Given the description of an element on the screen output the (x, y) to click on. 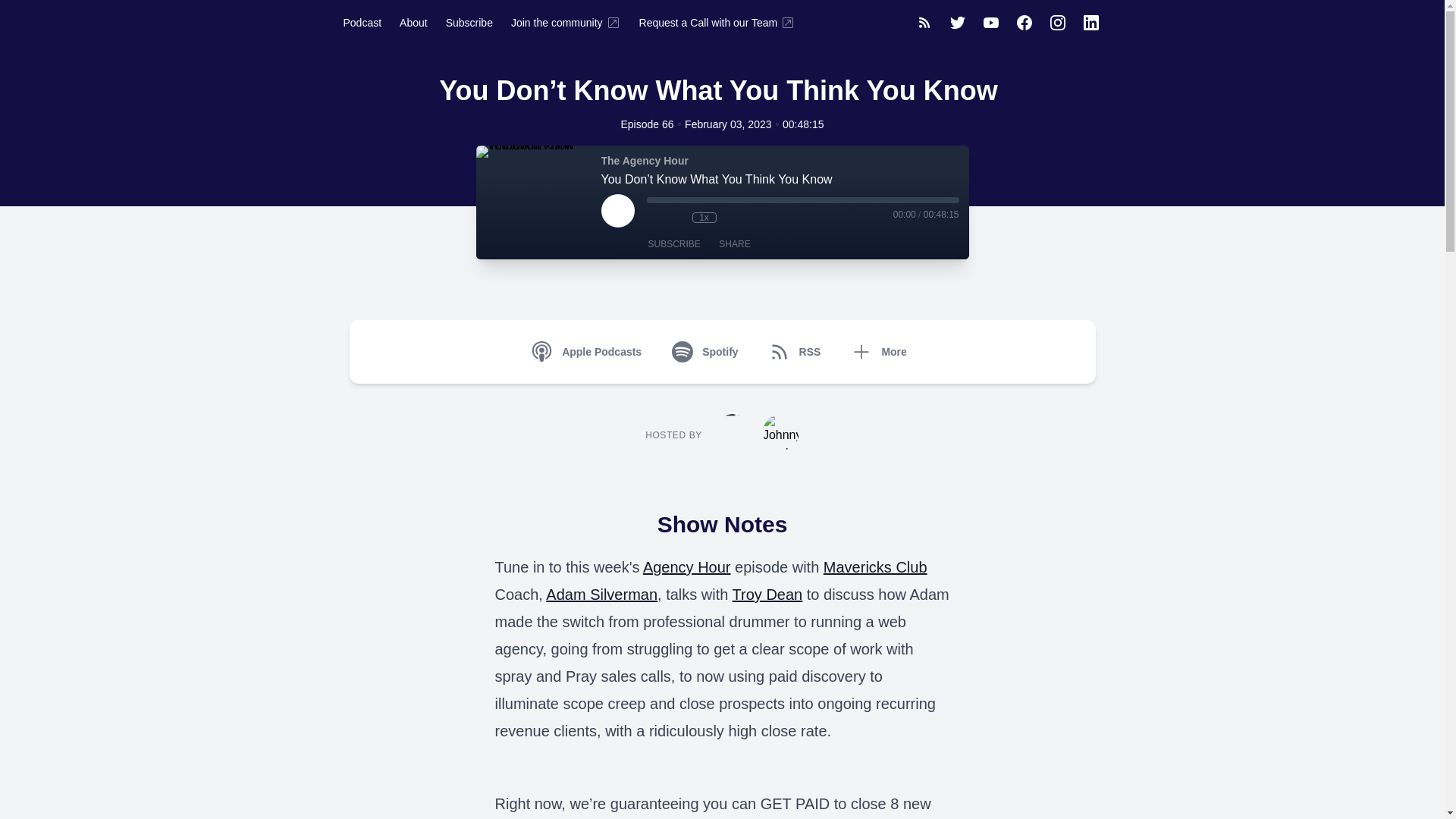
Subscribe (469, 22)
1x (703, 217)
SUBSCRIBE (673, 243)
Podcast (361, 22)
Agency Hour (686, 566)
More (881, 351)
Request a Call with our Team (717, 22)
RSS (797, 351)
Join the community (566, 22)
Apple Podcasts (589, 351)
